Given the description of an element on the screen output the (x, y) to click on. 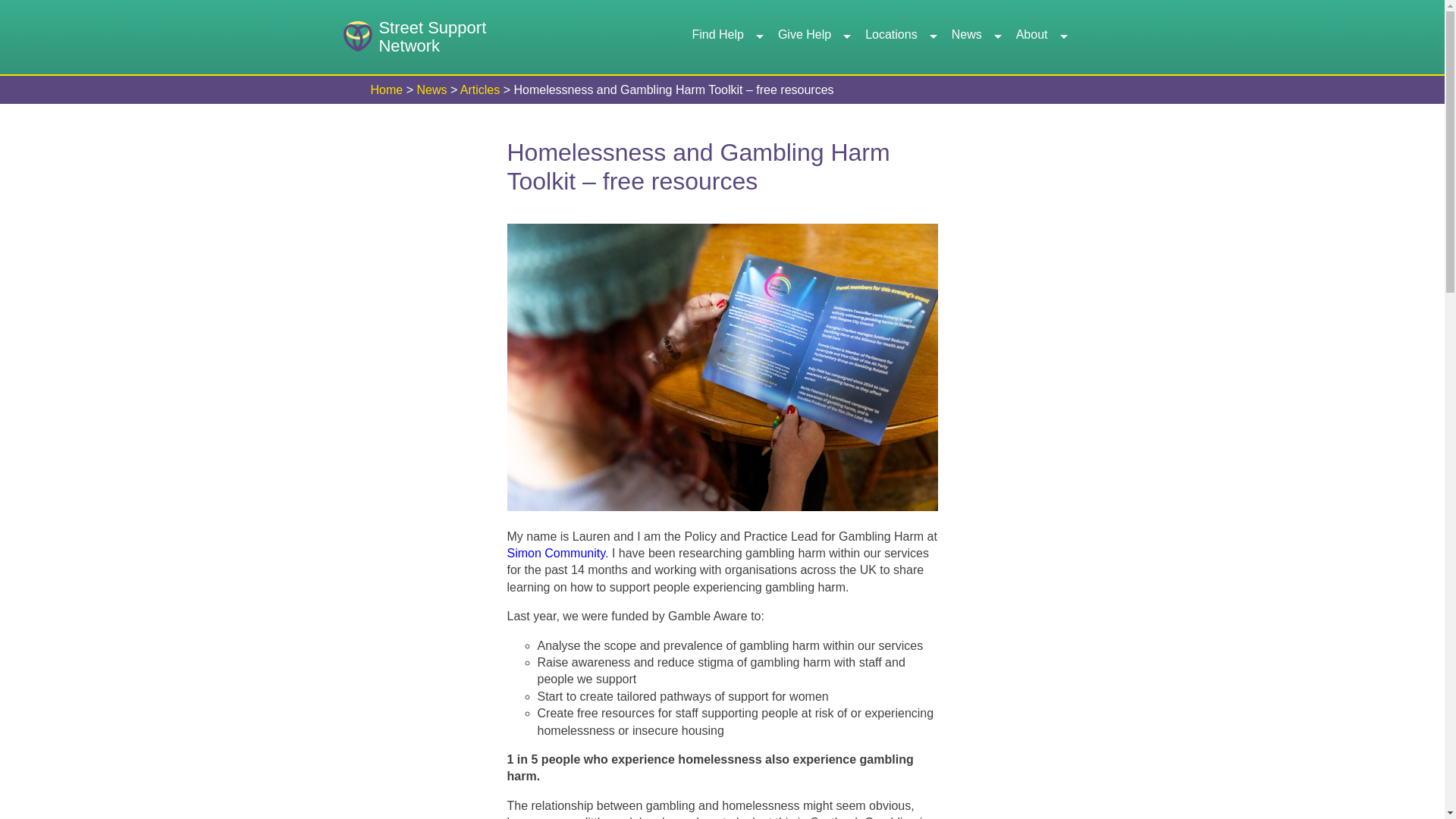
Locations (414, 37)
Find Help (900, 37)
Give Help (727, 37)
